Given the description of an element on the screen output the (x, y) to click on. 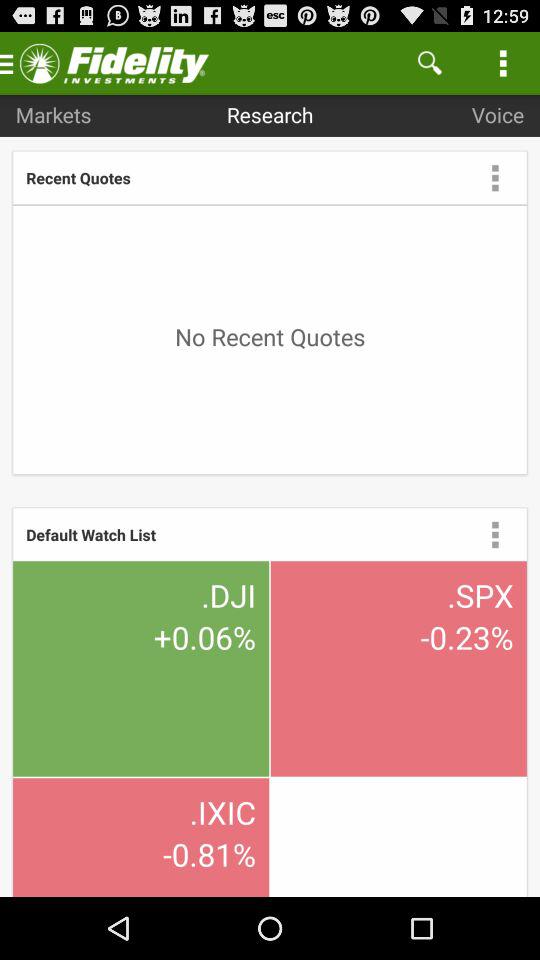
to know details (495, 534)
